Given the description of an element on the screen output the (x, y) to click on. 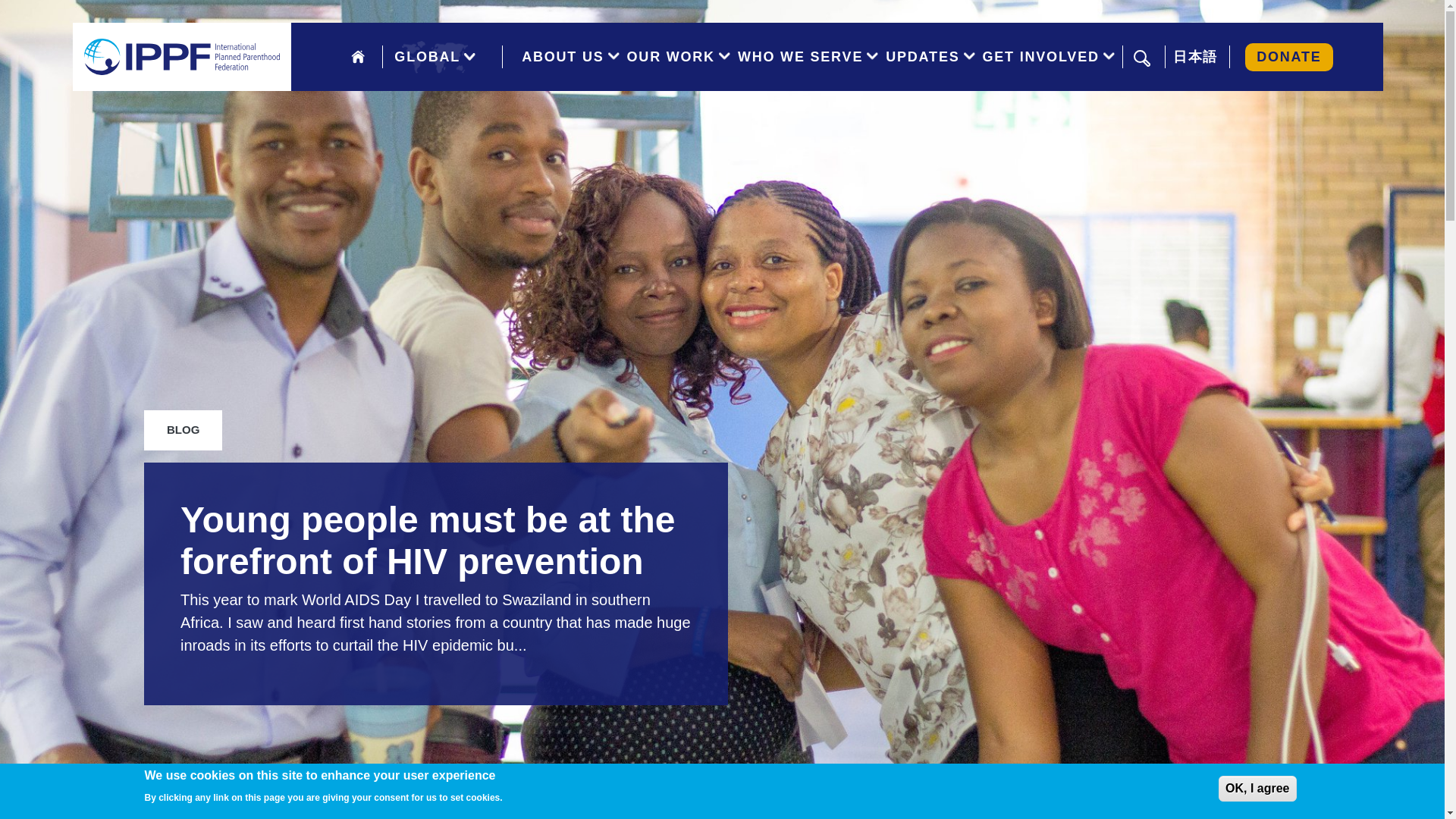
Home (181, 57)
